Given the description of an element on the screen output the (x, y) to click on. 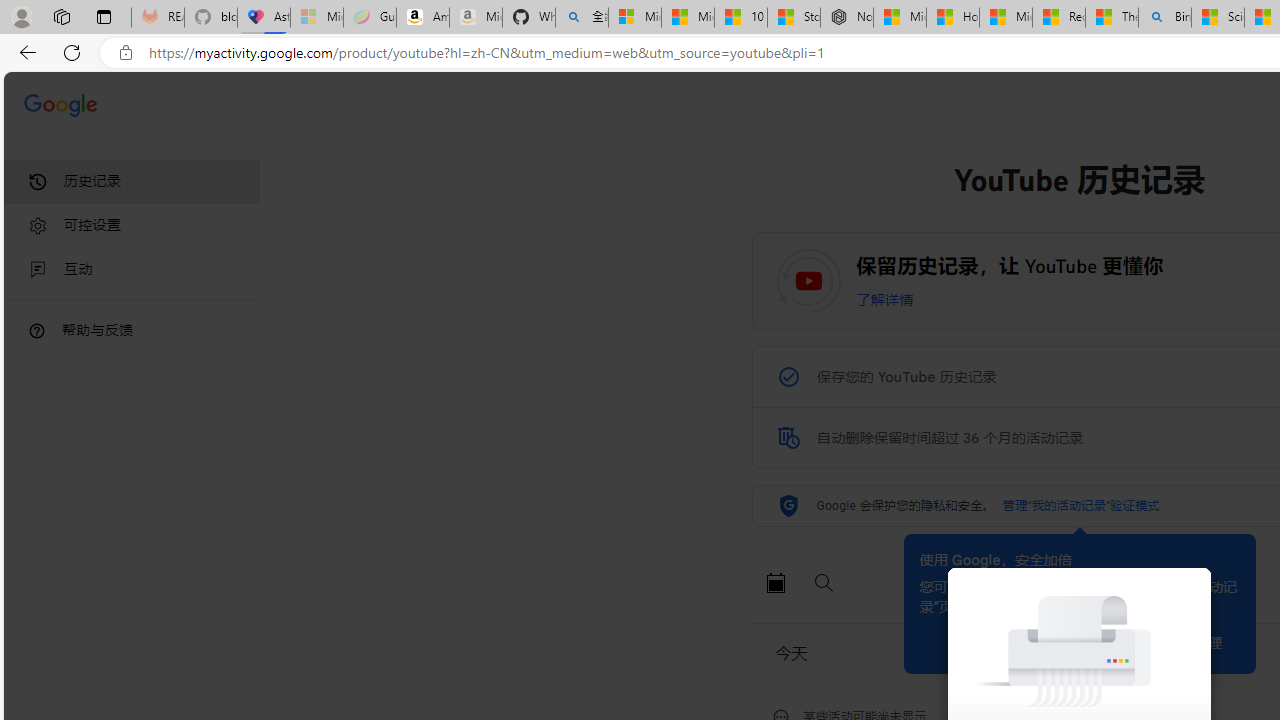
Stocks - MSN (794, 17)
Microsoft-Report a Concern to Bing - Sleeping (316, 17)
Bing (1165, 17)
Microsoft account | Privacy (634, 17)
Science - MSN (1217, 17)
Recipes - MSN (1059, 17)
Asthma Inhalers: Names and Types (264, 17)
How I Got Rid of Microsoft Edge's Unnecessary Features (952, 17)
